Given the description of an element on the screen output the (x, y) to click on. 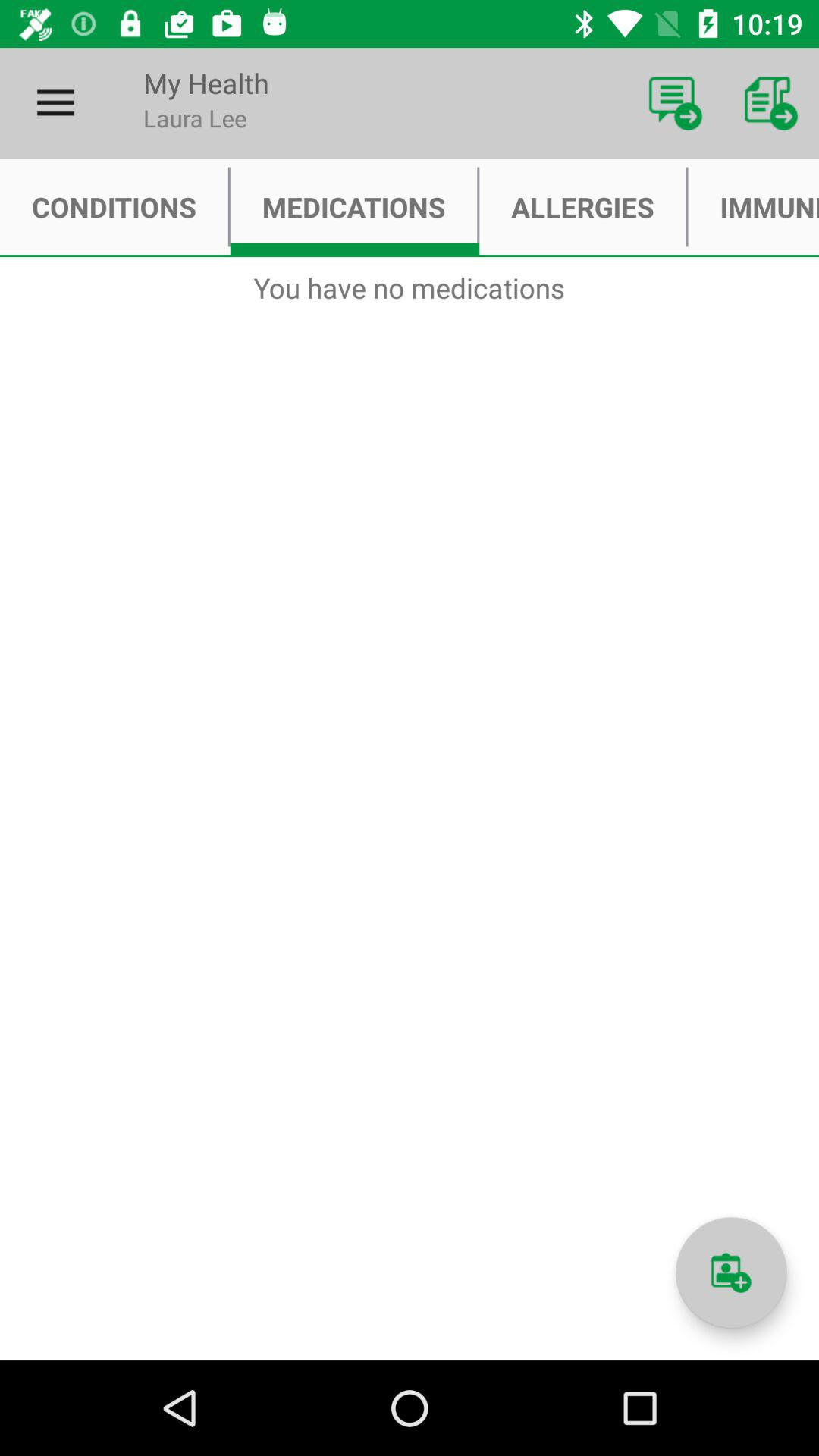
tap the icon above immunizations (771, 103)
